Given the description of an element on the screen output the (x, y) to click on. 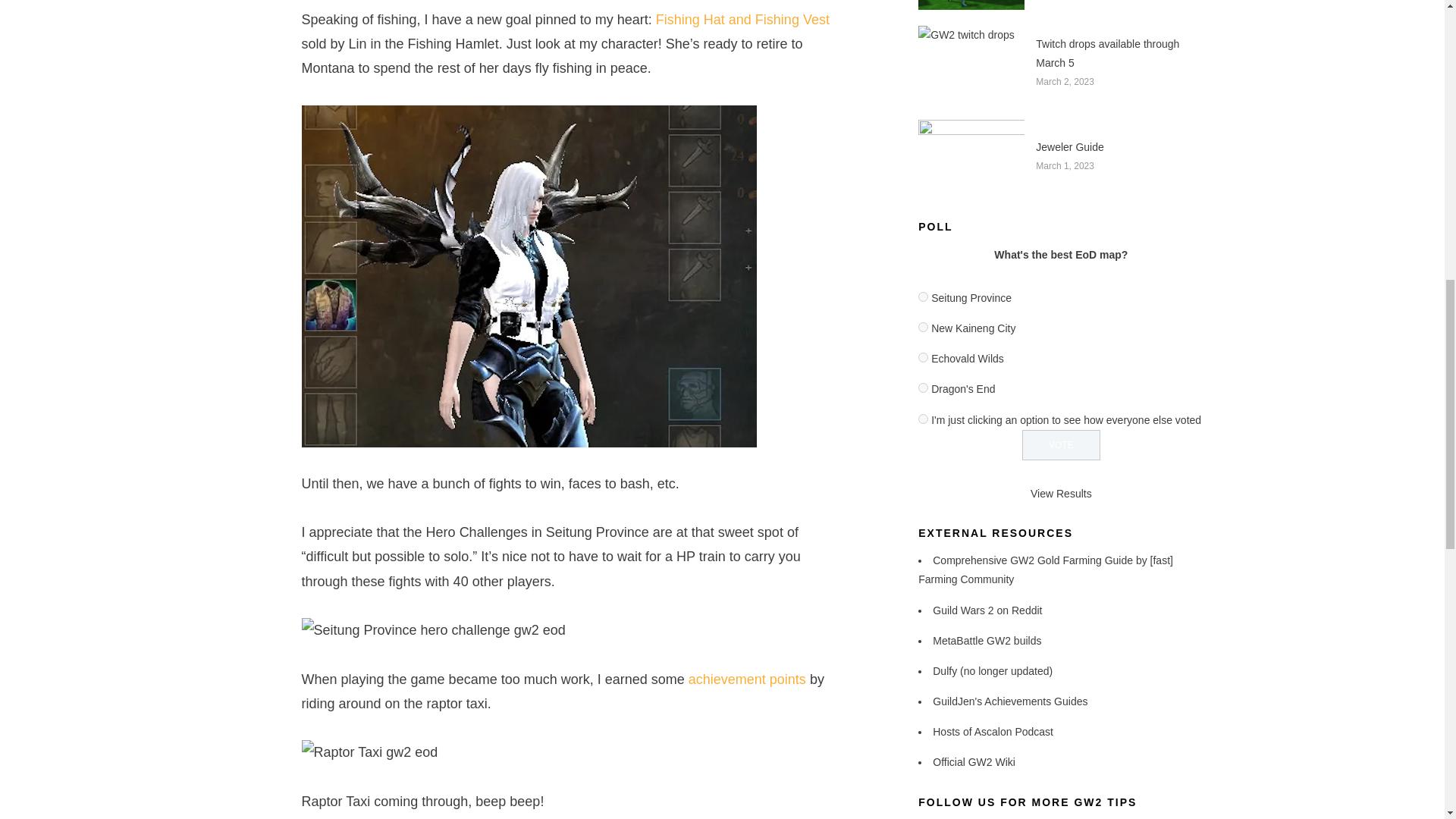
27 (923, 388)
26 (923, 357)
   Vote    (1061, 444)
View Results Of This Poll (1061, 493)
24 (923, 296)
25 (923, 327)
28 (923, 419)
